Given the description of an element on the screen output the (x, y) to click on. 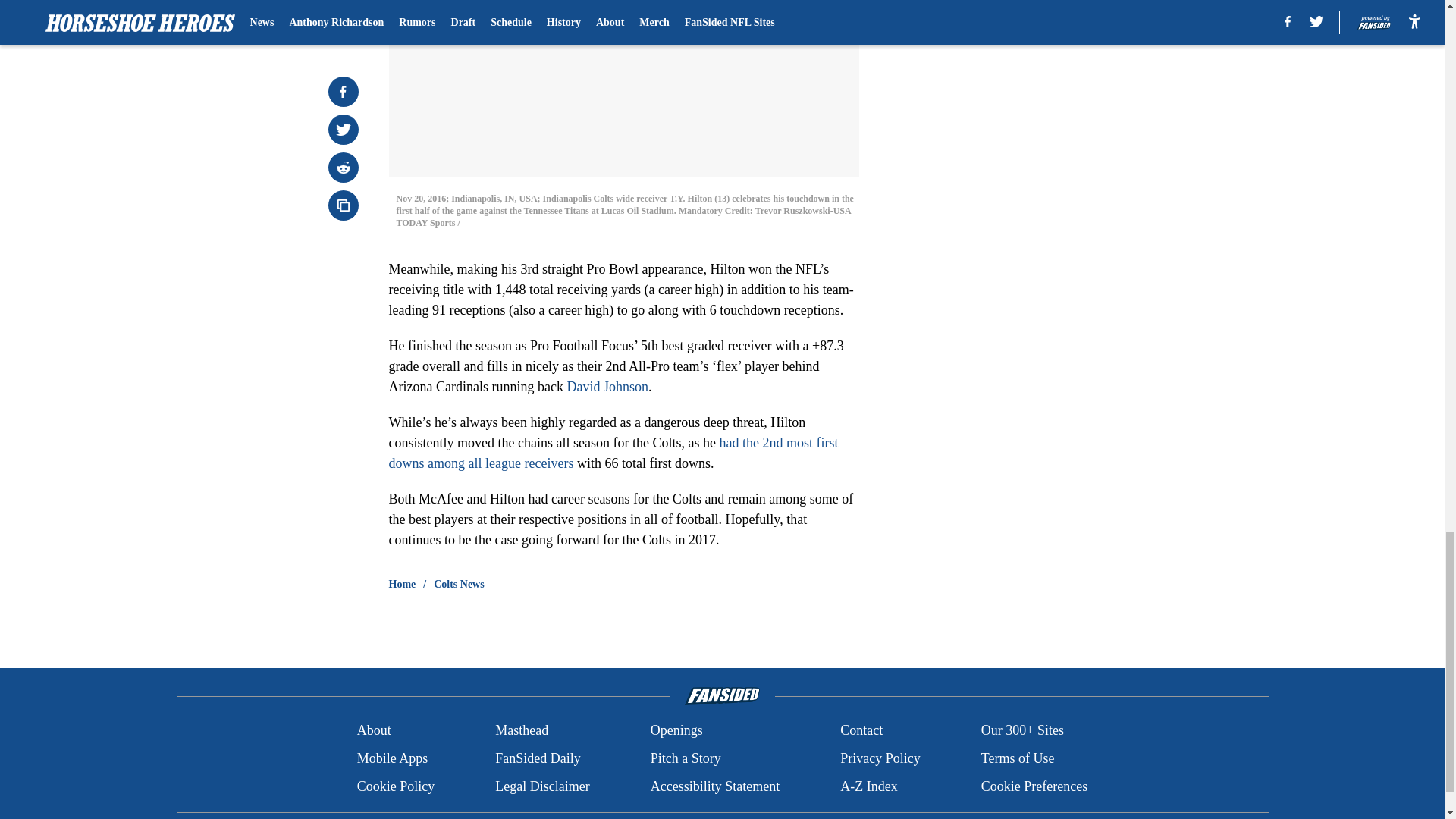
Mobile Apps (392, 758)
Masthead (521, 730)
David Johnson (606, 386)
Openings (676, 730)
Terms of Use (1017, 758)
Cookie Policy (395, 786)
FanSided Daily (537, 758)
Colts News (458, 584)
Contact (861, 730)
had the 2nd most first downs among all league receivers (613, 452)
Pitch a Story (685, 758)
Privacy Policy (880, 758)
About (373, 730)
Home (401, 584)
